Given the description of an element on the screen output the (x, y) to click on. 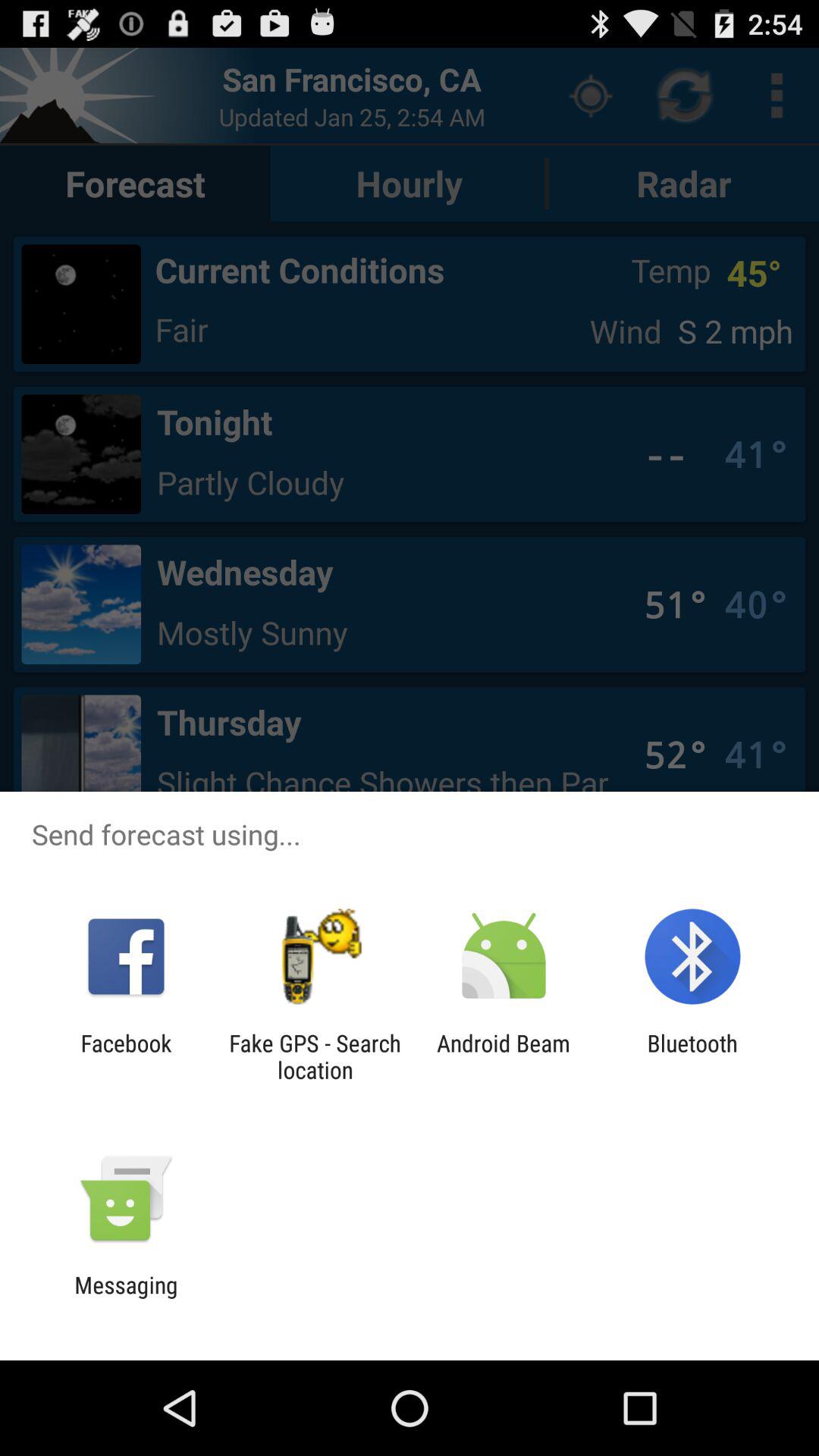
launch the icon to the right of android beam (692, 1056)
